Given the description of an element on the screen output the (x, y) to click on. 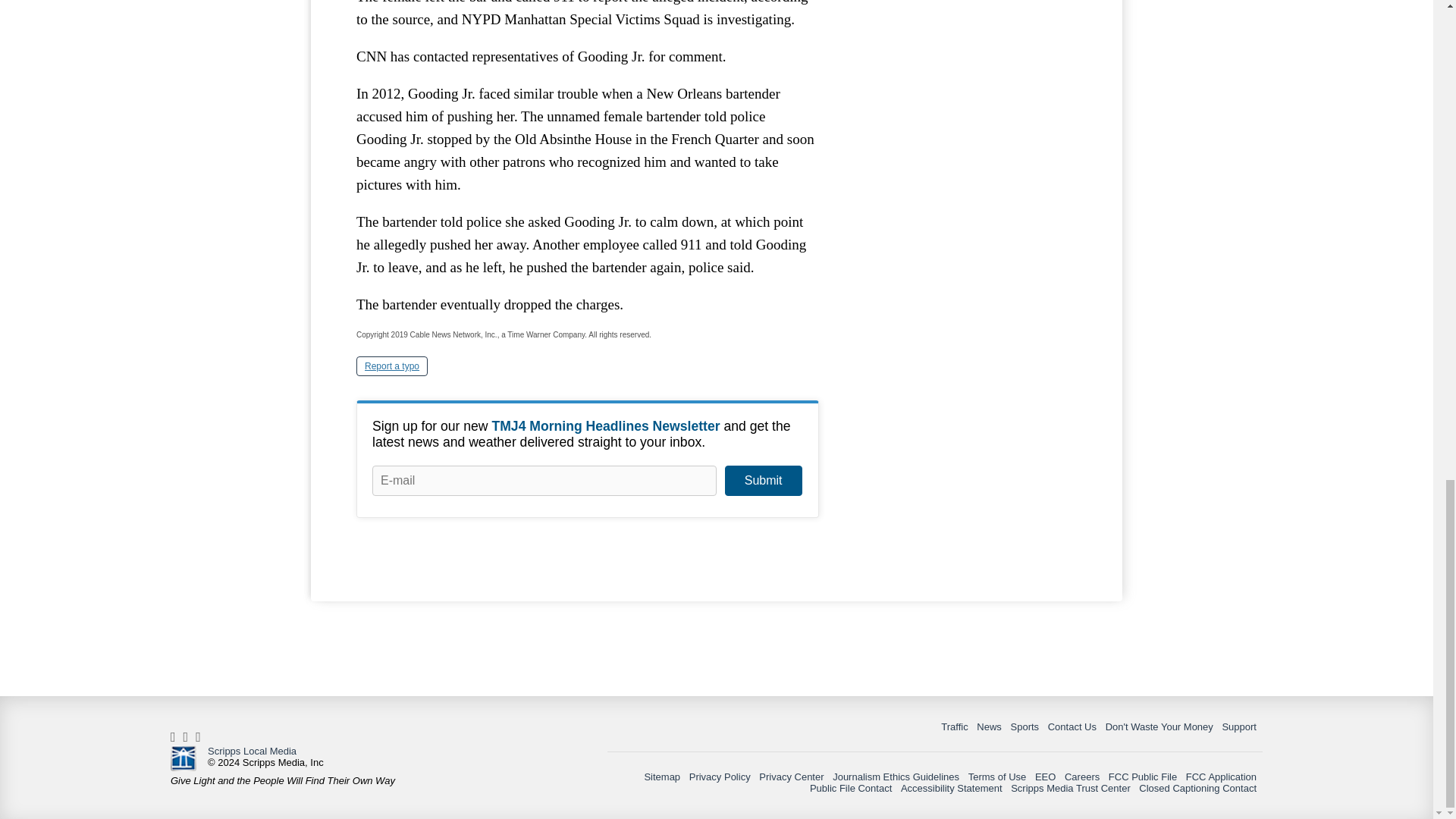
Submit (763, 481)
